Given the description of an element on the screen output the (x, y) to click on. 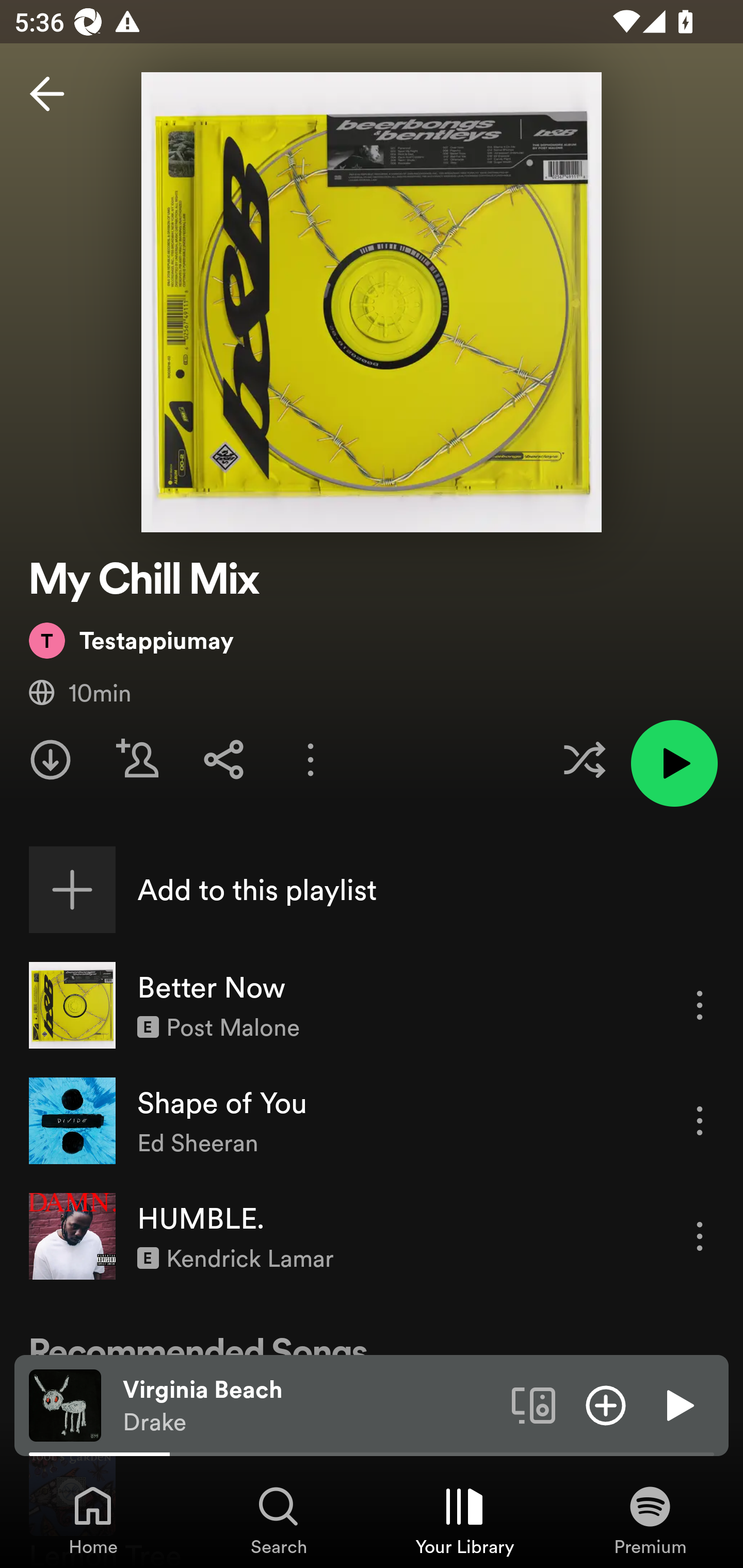
Back (46, 93)
Testappiumay (131, 640)
Download (50, 759)
Invite Friends for playlist (136, 759)
More options for playlist My Chill Mix (310, 759)
Enable shuffle for this playlist (583, 759)
Play playlist (674, 763)
Add to this playlist (371, 889)
More options for song Better Now (699, 1004)
More options for song Shape of You (699, 1120)
More options for song HUMBLE. (699, 1236)
Virginia Beach Drake (309, 1405)
The cover art of the currently playing track (64, 1404)
Connect to a device. Opens the devices menu (533, 1404)
Add item (605, 1404)
Play (677, 1404)
Home, Tab 1 of 4 Home Home (92, 1519)
Search, Tab 2 of 4 Search Search (278, 1519)
Your Library, Tab 3 of 4 Your Library Your Library (464, 1519)
Premium, Tab 4 of 4 Premium Premium (650, 1519)
